Given the description of an element on the screen output the (x, y) to click on. 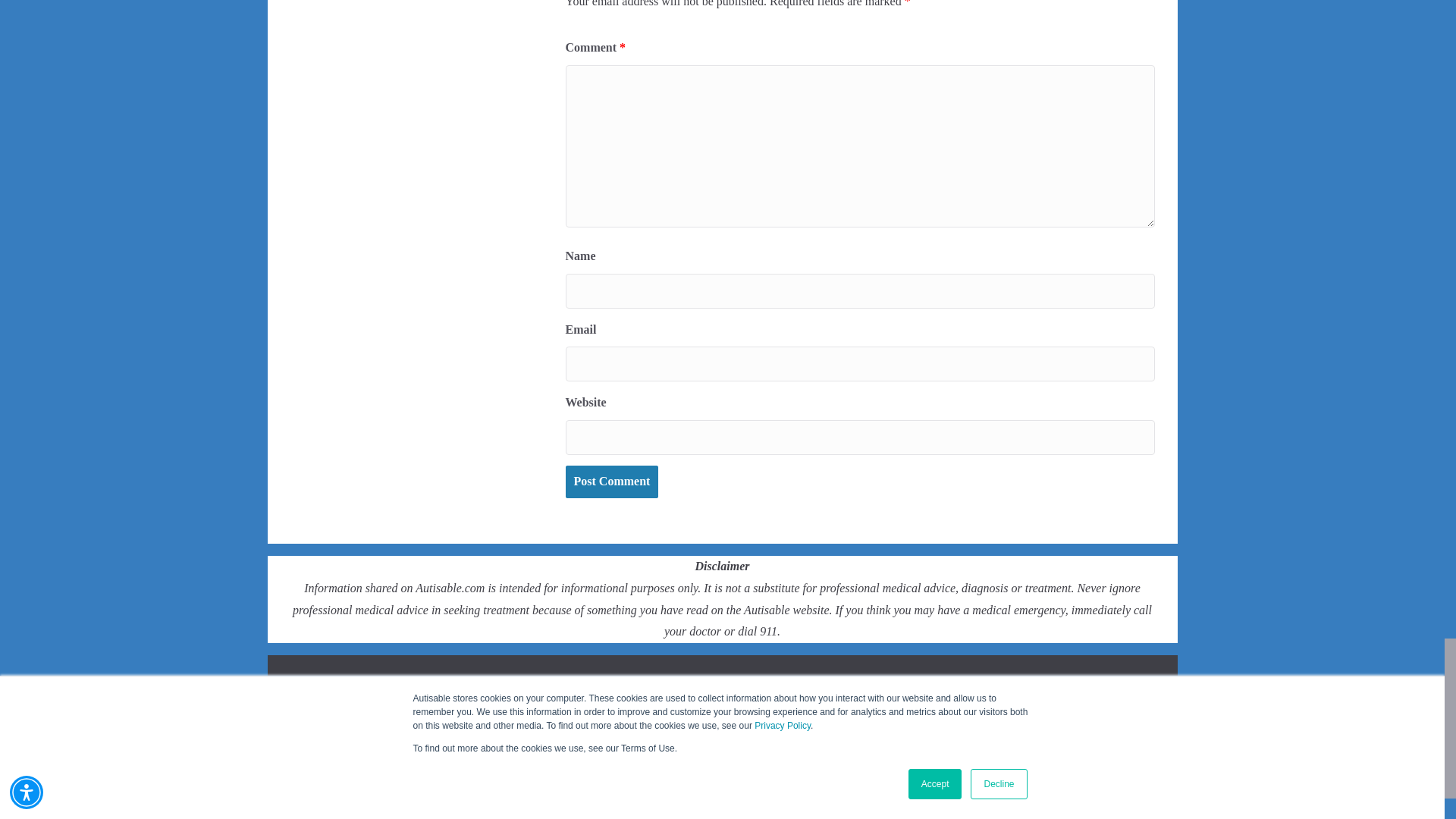
Post Comment (612, 481)
